Given the description of an element on the screen output the (x, y) to click on. 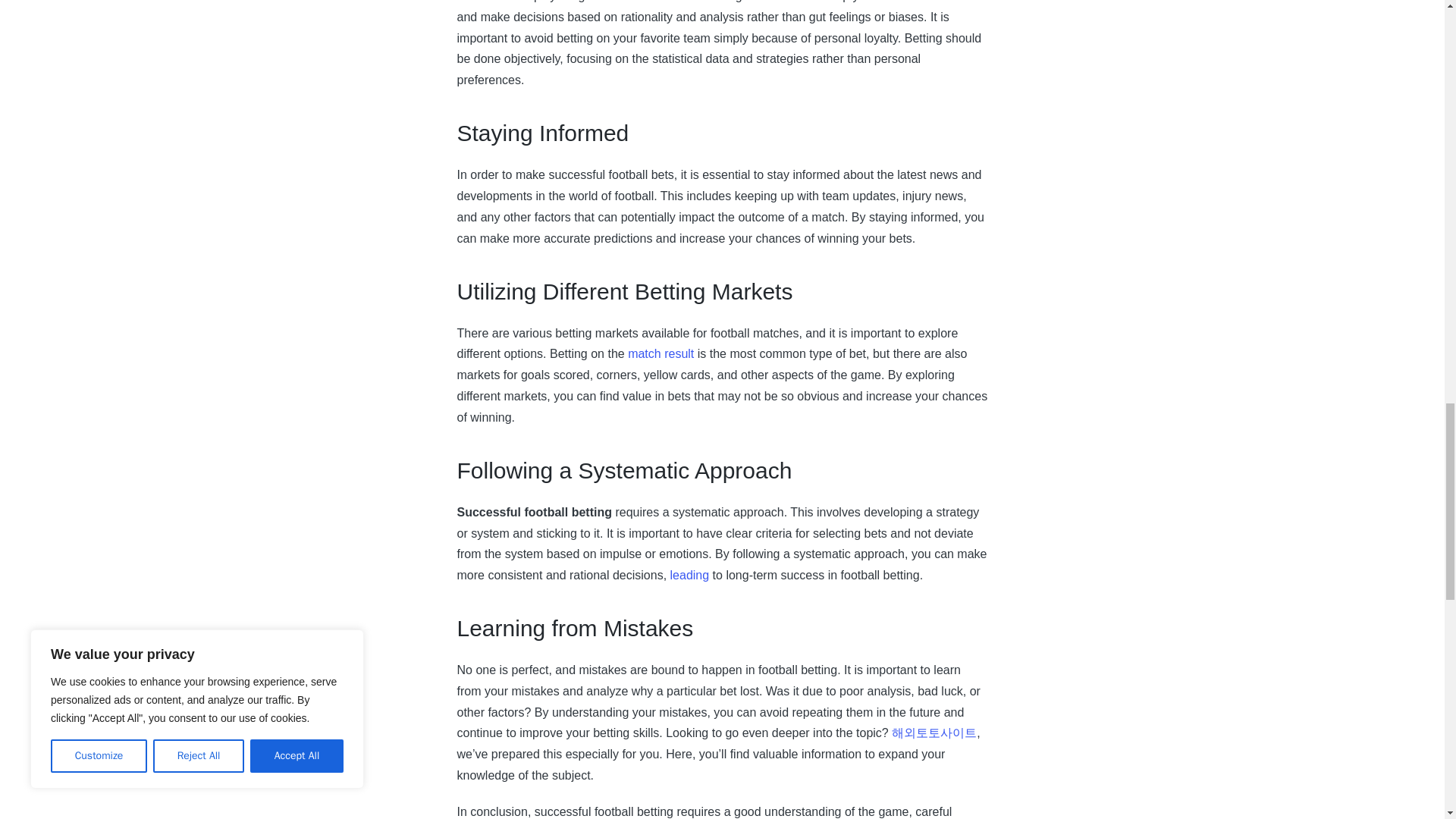
leading (689, 574)
match result (660, 353)
